Given the description of an element on the screen output the (x, y) to click on. 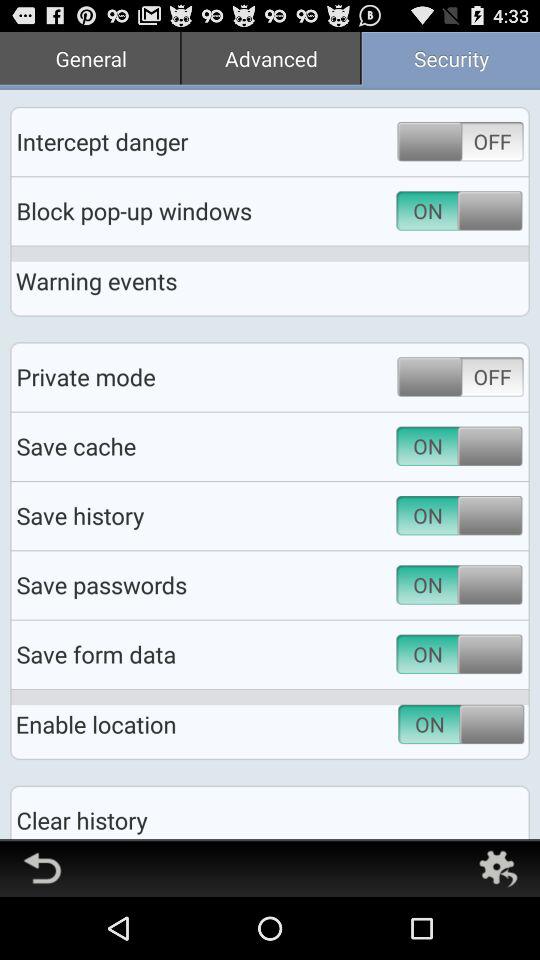
previous button (42, 868)
